Given the description of an element on the screen output the (x, y) to click on. 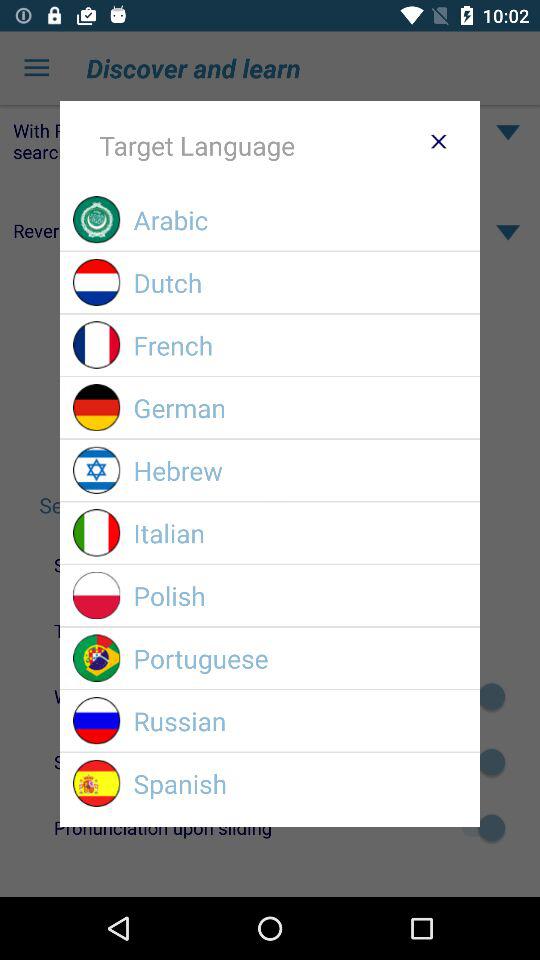
click portuguese icon (300, 657)
